Given the description of an element on the screen output the (x, y) to click on. 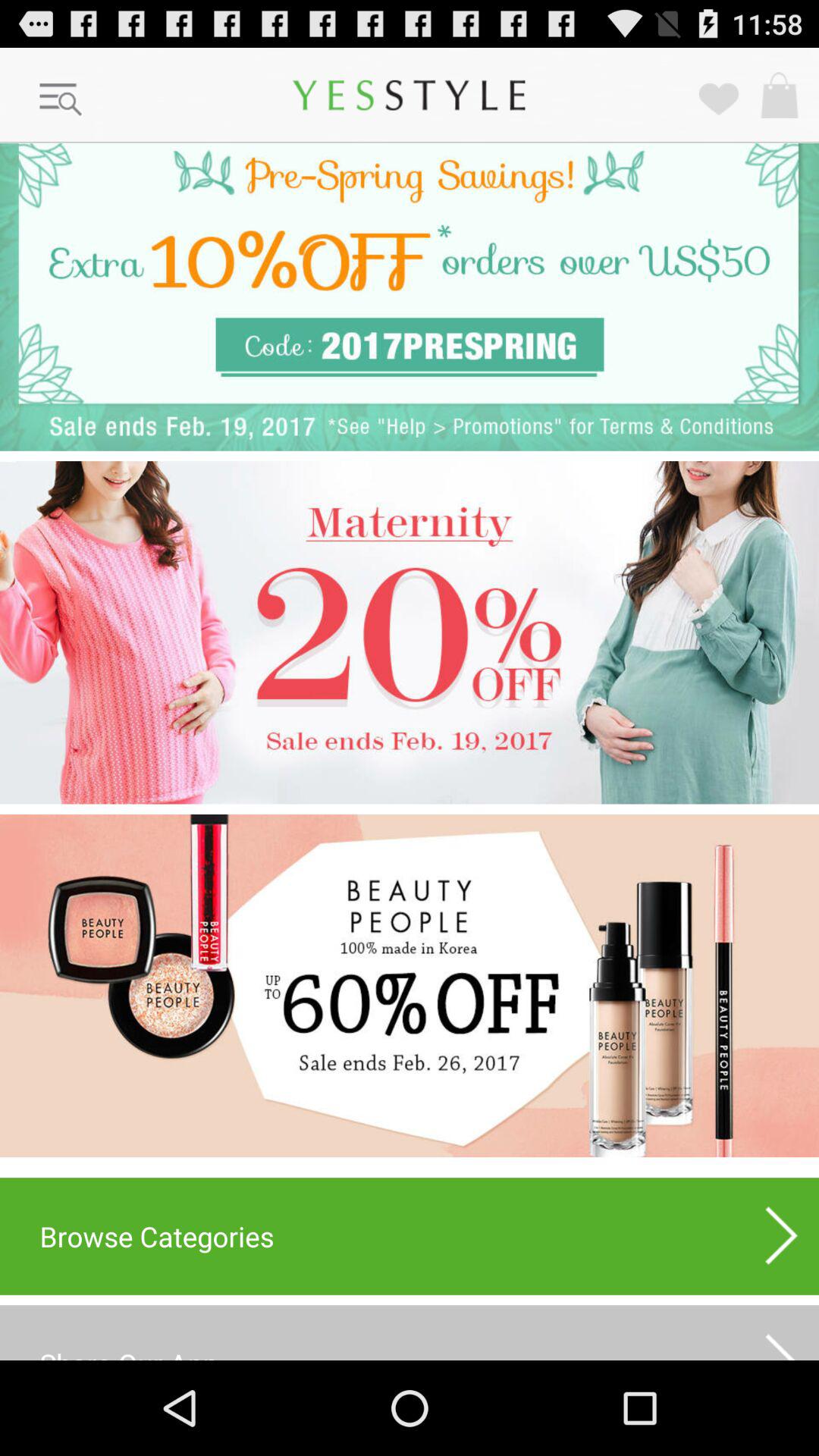
open browse categories (409, 1236)
